Given the description of an element on the screen output the (x, y) to click on. 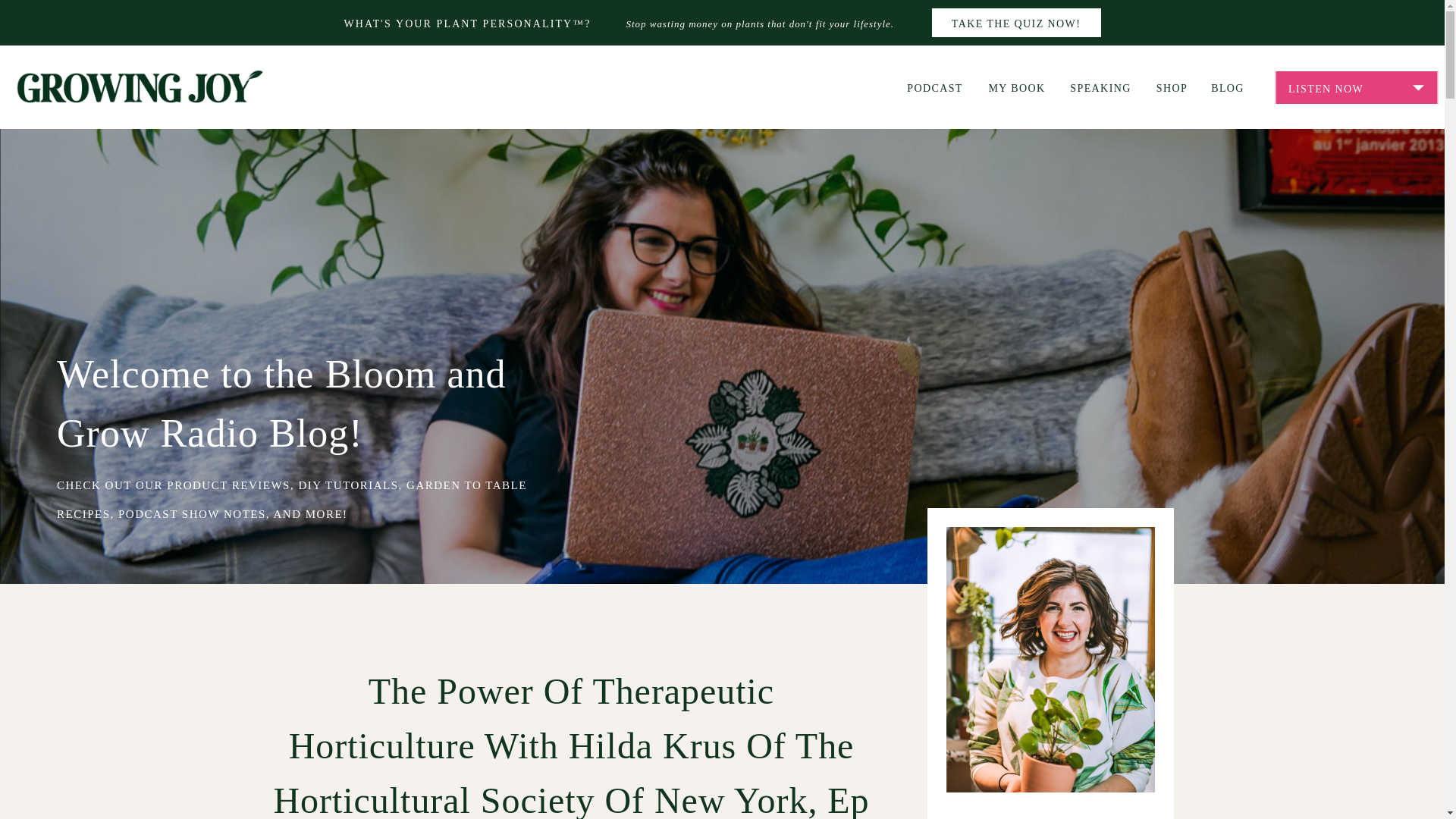
BLOG (1227, 86)
TAKE THE QUIZ NOW! (1016, 22)
LISTEN NOW (1355, 87)
MY BOOK (1016, 86)
Stop wasting money on plants that don't fit your lifestyle. (770, 23)
SPEAKING (1100, 86)
PODCAST (934, 86)
SHOP (1172, 86)
